Given the description of an element on the screen output the (x, y) to click on. 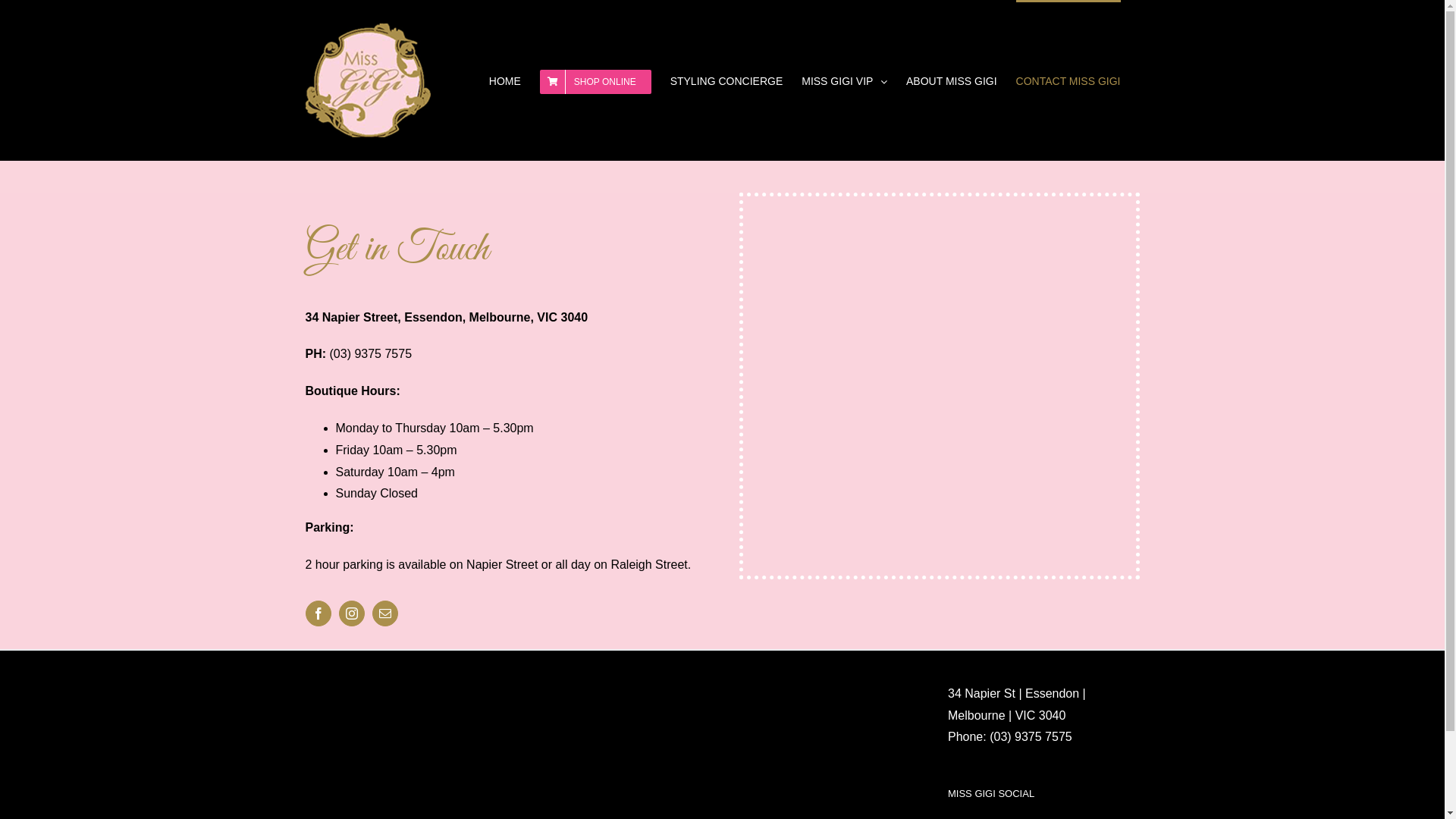
STYLING CONCIERGE Element type: text (726, 80)
SHOP ONLINE Element type: text (595, 80)
HOME Element type: text (504, 80)
CONTACT MISS GIGI Element type: text (1068, 80)
ABOUT MISS GIGI Element type: text (951, 80)
MISS GIGI VIP Element type: text (844, 80)
